Given the description of an element on the screen output the (x, y) to click on. 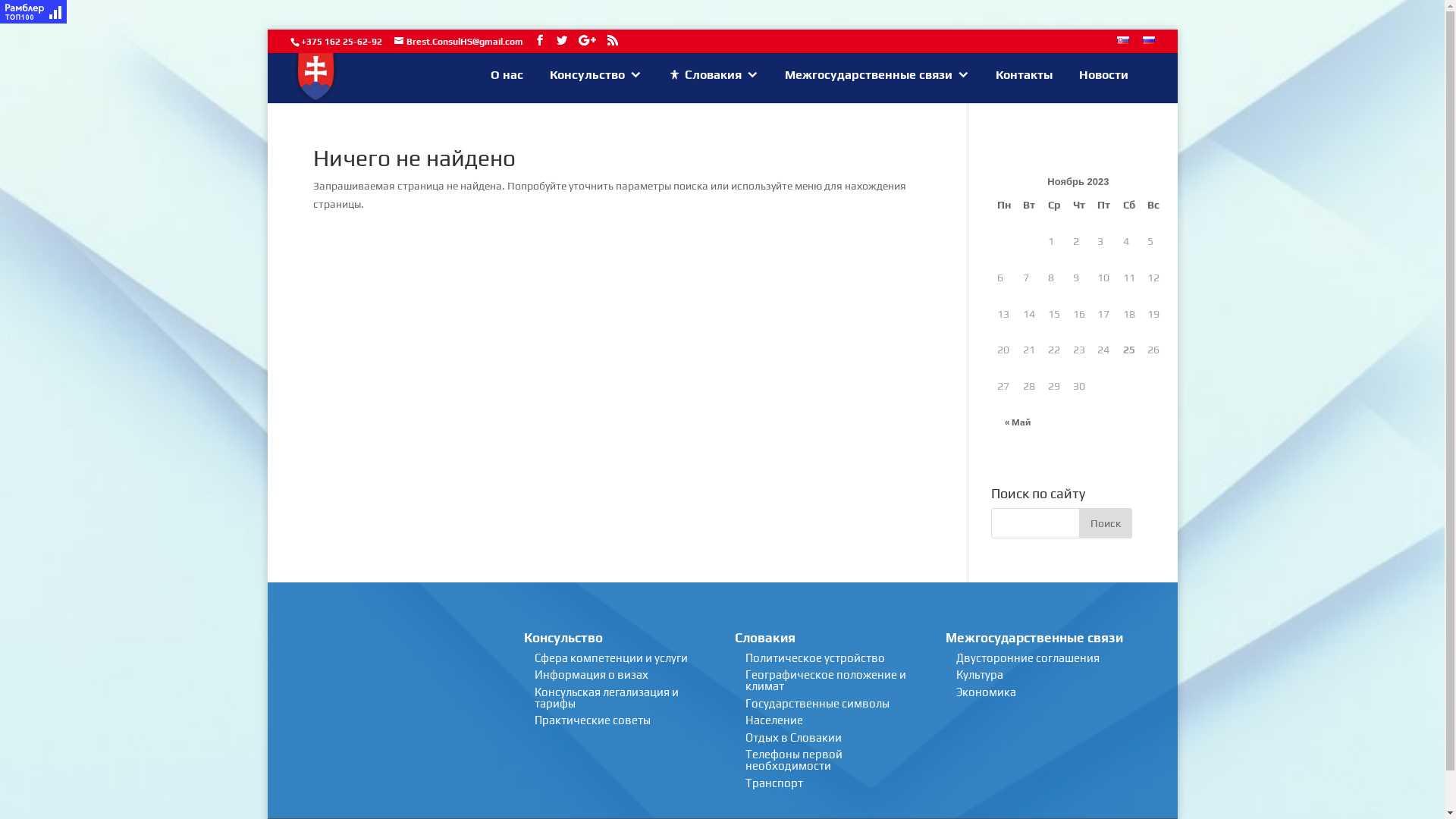
Rambler's Top100 Element type: hover (33, 11)
Brest.ConsulHS@gmail.com Element type: text (458, 41)
